Given the description of an element on the screen output the (x, y) to click on. 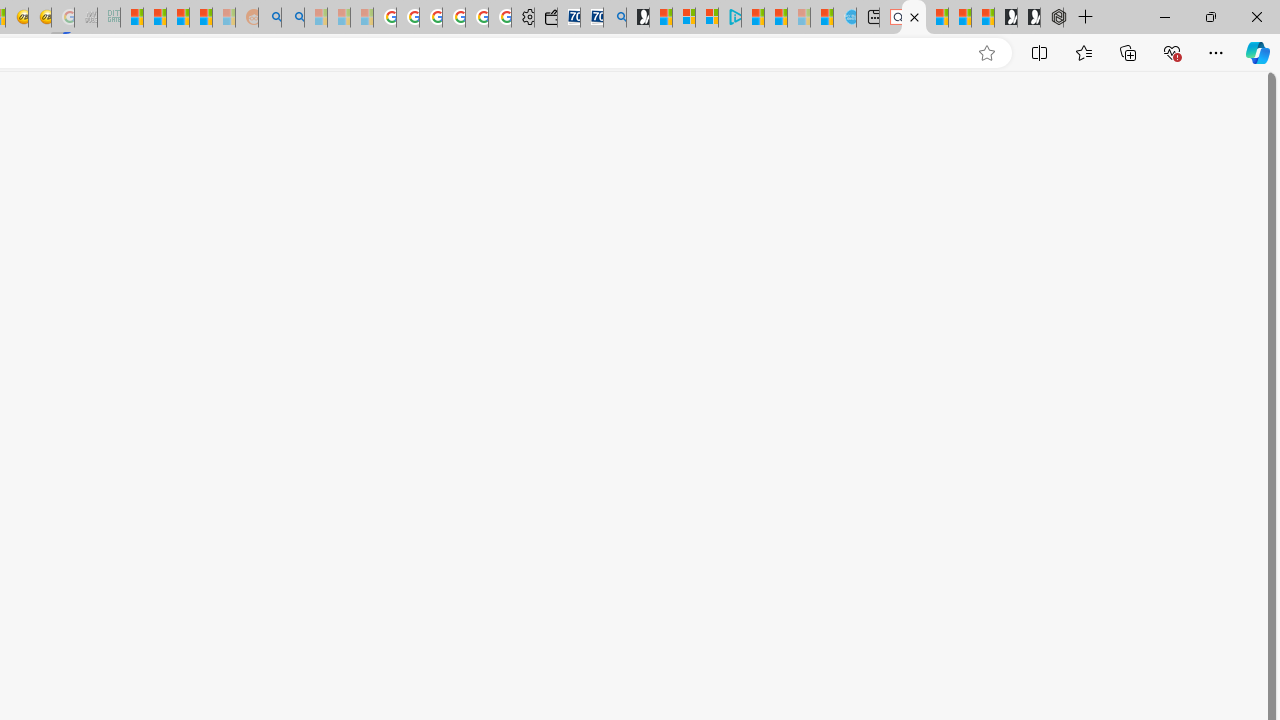
Utah sues federal government - Search (292, 17)
Wallet (545, 17)
Bing Real Estate - Home sales and rental listings (614, 17)
